Given the description of an element on the screen output the (x, y) to click on. 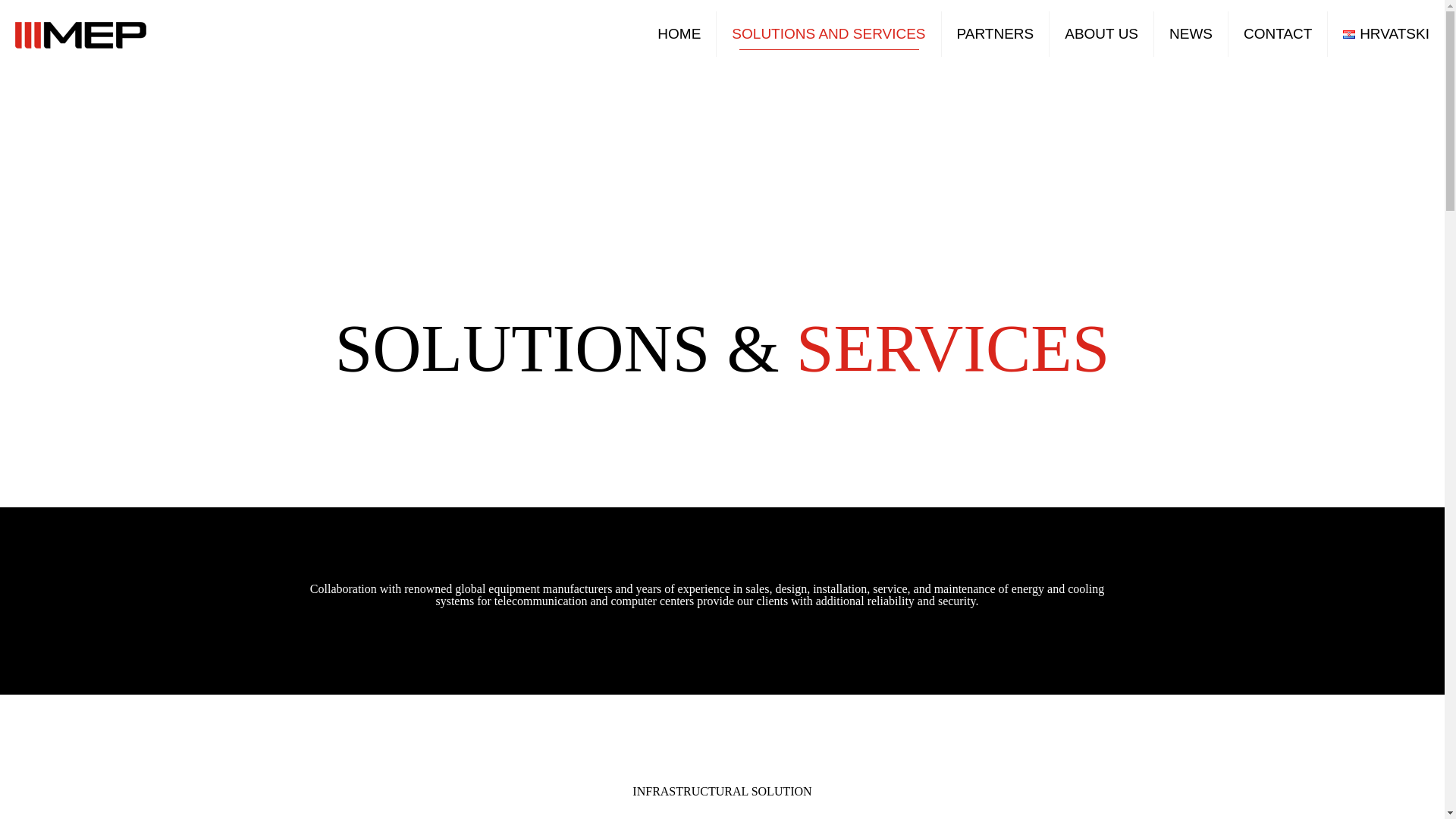
SOLUTIONS AND SERVICES (828, 33)
ABOUT US (1101, 33)
HOME (679, 33)
CONTACT (1277, 33)
IAC Rijeka (736, 743)
NEWS (1191, 33)
Privacy Policy (722, 730)
MEP (80, 33)
PARTNERS (995, 33)
Facebook (713, 767)
LinkedIn (730, 767)
